Given the description of an element on the screen output the (x, y) to click on. 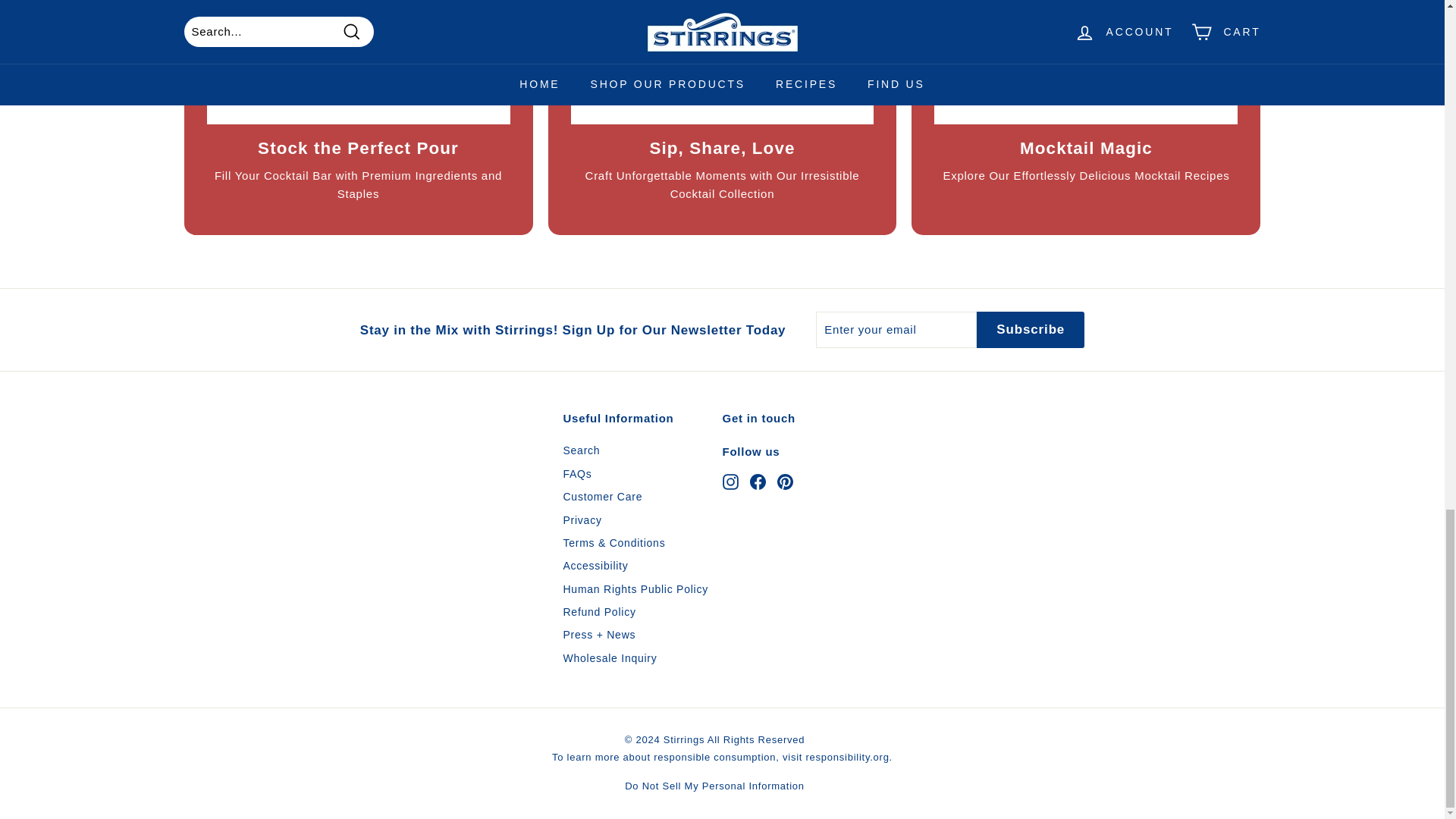
Stirrings on Facebook (757, 480)
Stirrings on Pinterest (784, 480)
Stirrings on Instagram (730, 480)
